Given the description of an element on the screen output the (x, y) to click on. 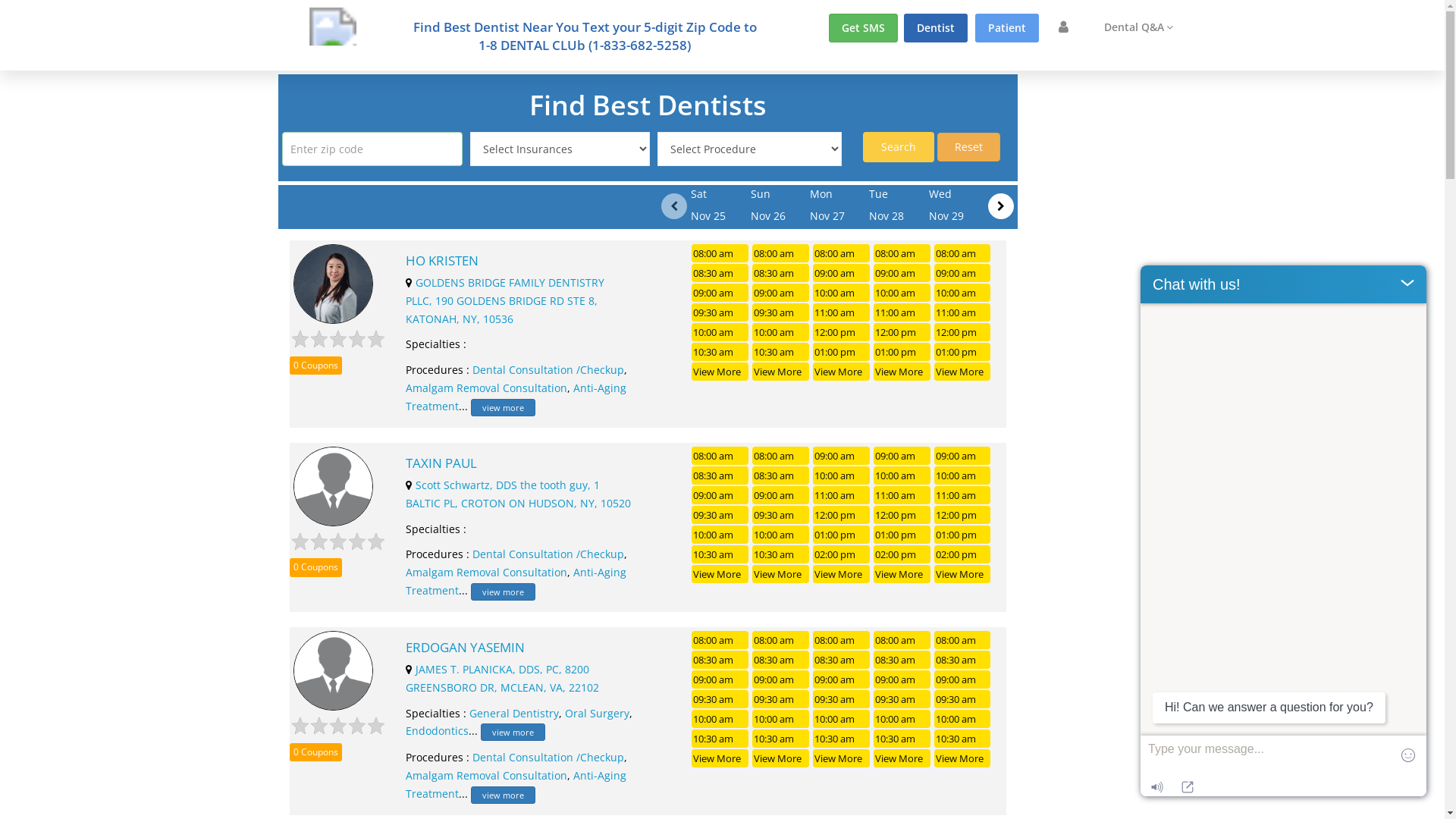
01:00 pm Element type: text (901, 351)
view more Element type: text (502, 407)
09:30 am Element type: text (840, 699)
09:00 am Element type: text (719, 679)
08:00 am Element type: text (901, 253)
12:00 pm Element type: text (962, 514)
10:00 am Element type: text (840, 475)
11:00 am Element type: text (901, 312)
10:00 am Element type: text (962, 475)
View More Element type: text (719, 573)
09:30 am Element type: text (719, 514)
08:00 am Element type: text (901, 639)
view more Element type: text (502, 591)
08:00 am Element type: text (719, 455)
10:00 am Element type: text (962, 718)
10:30 am Element type: text (780, 738)
01:00 pm Element type: text (840, 351)
10:30 am Element type: text (780, 351)
09:00 am Element type: text (901, 455)
Oral Surgery Element type: text (596, 713)
Dental Consultation /Checkup Element type: text (548, 756)
View More Element type: text (962, 371)
Advertisement Element type: hover (129, 297)
Get SMS Element type: text (862, 27)
09:30 am Element type: text (780, 514)
Dental Consultation /Checkup Element type: text (548, 369)
10:30 am Element type: text (780, 554)
10:30 am Element type: text (719, 554)
11:00 am Element type: text (901, 495)
09:00 am Element type: text (962, 679)
09:00 am Element type: text (780, 292)
01:00 pm Element type: text (962, 534)
View More Element type: text (962, 758)
11:00 am Element type: text (962, 495)
10:00 am Element type: text (901, 475)
08:00 am Element type: text (780, 639)
08:00 am Element type: text (840, 639)
09:00 am Element type: text (901, 679)
08:00 am Element type: text (780, 455)
View More Element type: text (840, 371)
09:00 am Element type: text (901, 272)
Anti-Aging Treatment Element type: text (515, 784)
View More Element type: text (840, 758)
10:00 am Element type: text (719, 718)
01:00 pm Element type: text (962, 351)
11:00 am Element type: text (840, 495)
01:00 pm Element type: text (901, 534)
10:30 am Element type: text (719, 351)
Endodontics Element type: text (436, 730)
08:30 am Element type: text (719, 272)
12:00 pm Element type: text (840, 514)
08:00 am Element type: text (719, 253)
09:00 am Element type: text (840, 272)
HO KRISTEN Element type: text (519, 260)
09:00 am Element type: text (719, 495)
02:00 pm Element type: text (901, 554)
Amalgam Removal Consultation Element type: text (486, 775)
10:00 am Element type: text (719, 534)
08:30 am Element type: text (780, 659)
0 Coupons Element type: text (315, 567)
08:30 am Element type: text (719, 659)
10:00 am Element type: text (780, 332)
10:00 am Element type: text (780, 718)
10:30 am Element type: text (840, 738)
10:00 am Element type: text (962, 292)
08:00 am Element type: text (962, 639)
View More Element type: text (780, 371)
Dental Consultation /Checkup Element type: text (548, 553)
09:00 am Element type: text (962, 272)
08:00 am Element type: text (719, 639)
10:00 am Element type: text (719, 332)
11:00 am Element type: text (840, 312)
08:00 am Element type: text (840, 253)
Search Element type: text (898, 146)
10:30 am Element type: text (962, 738)
10:30 am Element type: text (719, 738)
09:30 am Element type: text (719, 699)
08:30 am Element type: text (719, 475)
General Dentistry Element type: text (513, 713)
09:30 am Element type: text (719, 312)
Advertisement Element type: hover (1091, 301)
view more Element type: text (502, 794)
0 Coupons Element type: text (315, 365)
View More Element type: text (780, 758)
02:00 pm Element type: text (840, 554)
09:30 am Element type: text (780, 699)
View More Element type: text (719, 758)
12:00 pm Element type: text (901, 332)
Pure Chat Live Chat Element type: hover (1283, 530)
View More Element type: text (901, 371)
09:00 am Element type: text (840, 679)
08:00 am Element type: text (962, 253)
Dentist Element type: text (935, 27)
12:00 pm Element type: text (962, 332)
08:30 am Element type: text (962, 659)
View More Element type: text (901, 573)
view more Element type: text (512, 731)
09:00 am Element type: text (780, 495)
09:30 am Element type: text (901, 699)
09:30 am Element type: text (780, 312)
09:00 am Element type: text (719, 292)
12:00 pm Element type: text (840, 332)
View More Element type: text (901, 758)
View More Element type: text (840, 573)
09:00 am Element type: text (780, 679)
Anti-Aging Treatment Element type: text (515, 580)
Dental Q&A Element type: text (1138, 26)
View More Element type: text (780, 573)
10:00 am Element type: text (840, 292)
10:30 am Element type: text (901, 738)
View More Element type: text (719, 371)
10:00 am Element type: text (901, 718)
11:00 am Element type: text (962, 312)
Amalgam Removal Consultation Element type: text (486, 571)
Patient Element type: text (1006, 27)
09:30 am Element type: text (962, 699)
08:00 am Element type: text (780, 253)
08:30 am Element type: text (780, 475)
0 Coupons Element type: text (315, 752)
01:00 pm Element type: text (840, 534)
12:00 pm Element type: text (901, 514)
Anti-Aging Treatment Element type: text (515, 396)
09:00 am Element type: text (840, 455)
Pure Chat Live Chat Element type: hover (1361, 786)
10:00 am Element type: text (780, 534)
Advertisement Element type: hover (1313, 297)
02:00 pm Element type: text (962, 554)
View More Element type: text (962, 573)
Amalgam Removal Consultation Element type: text (486, 387)
ERDOGAN YASEMIN Element type: text (519, 647)
08:30 am Element type: text (901, 659)
TAXIN PAUL Element type: text (519, 463)
10:00 am Element type: text (901, 292)
09:00 am Element type: text (962, 455)
10:00 am Element type: text (840, 718)
08:30 am Element type: text (780, 272)
Reset Element type: text (968, 146)
08:30 am Element type: text (840, 659)
